Given the description of an element on the screen output the (x, y) to click on. 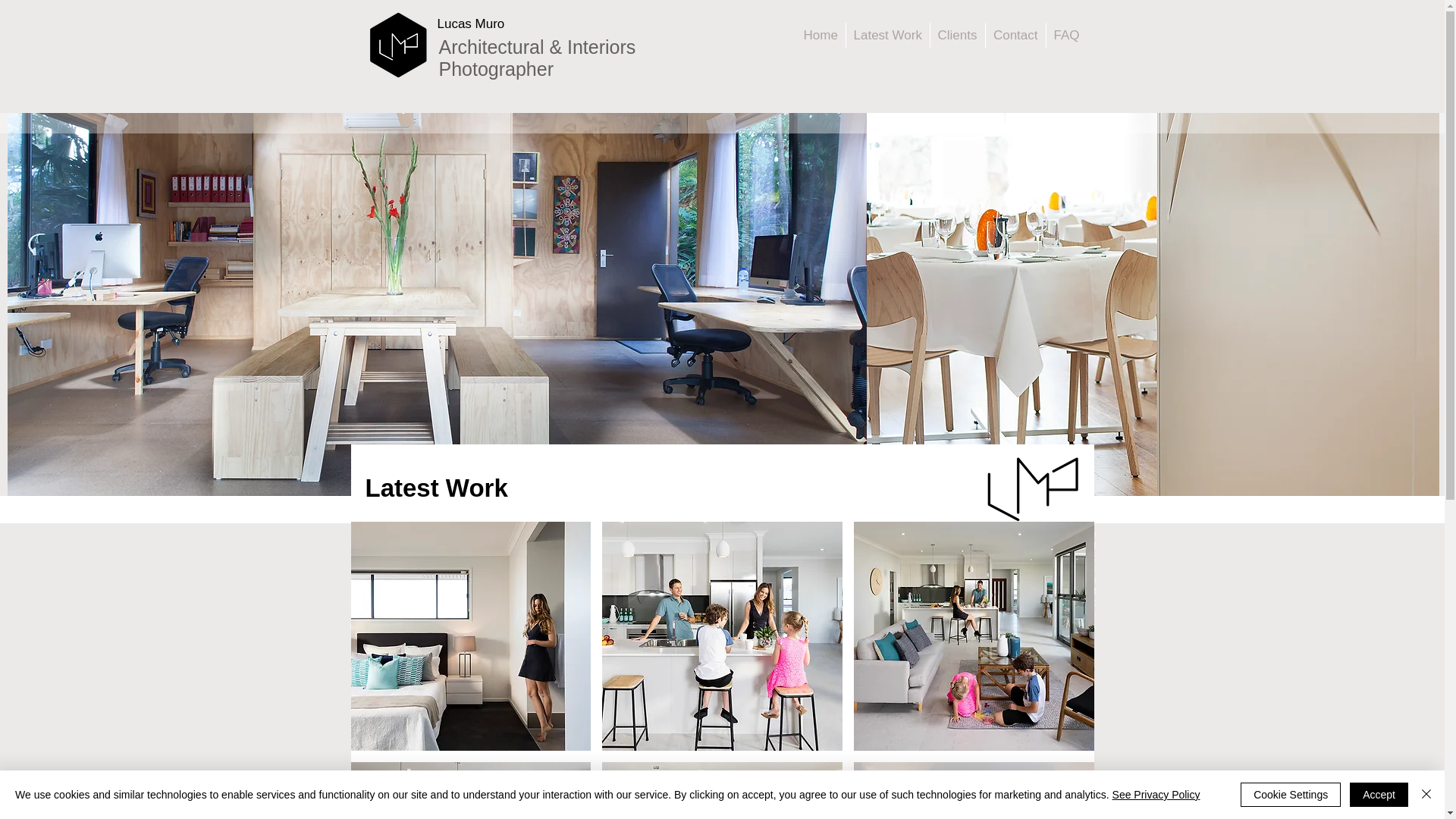
Cookie Settings Element type: text (1290, 794)
LMP-monogram-black.png Element type: hover (398, 45)
Accept Element type: text (1378, 794)
Latest Work Element type: text (887, 34)
Contact Element type: text (1015, 34)
FAQ Element type: text (1066, 34)
See Privacy Policy Element type: text (1156, 794)
Clients Element type: text (956, 34)
Home Element type: text (820, 34)
